Given the description of an element on the screen output the (x, y) to click on. 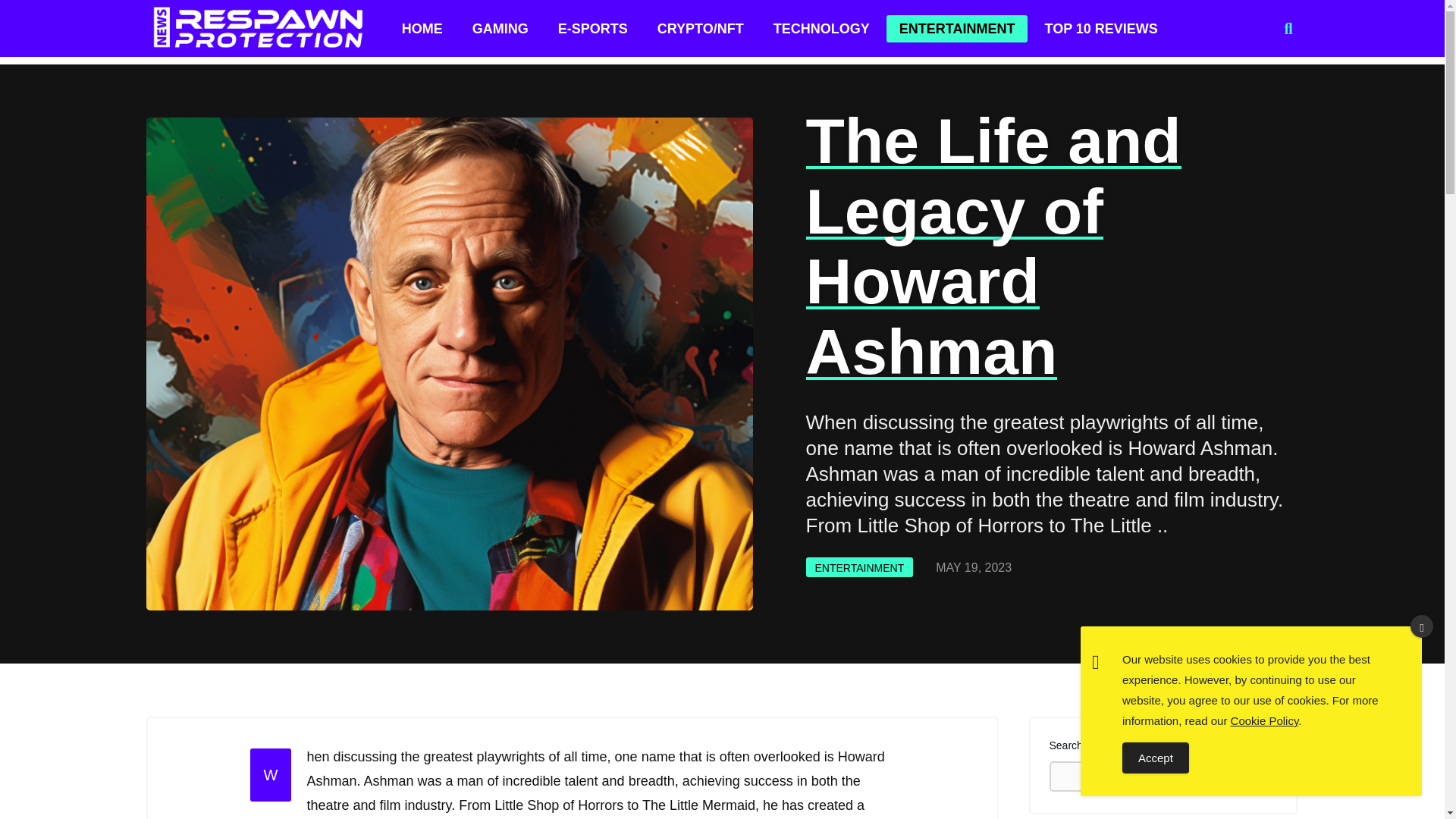
ENTERTAINMENT (858, 567)
E-SPORTS (592, 28)
TOP 10 REVIEWS (1100, 28)
The Life and Legacy of Howard Ashman (992, 246)
HOME (421, 28)
GAMING (500, 28)
Search (1242, 776)
ENTERTAINMENT (956, 28)
TECHNOLOGY (821, 28)
